Given the description of an element on the screen output the (x, y) to click on. 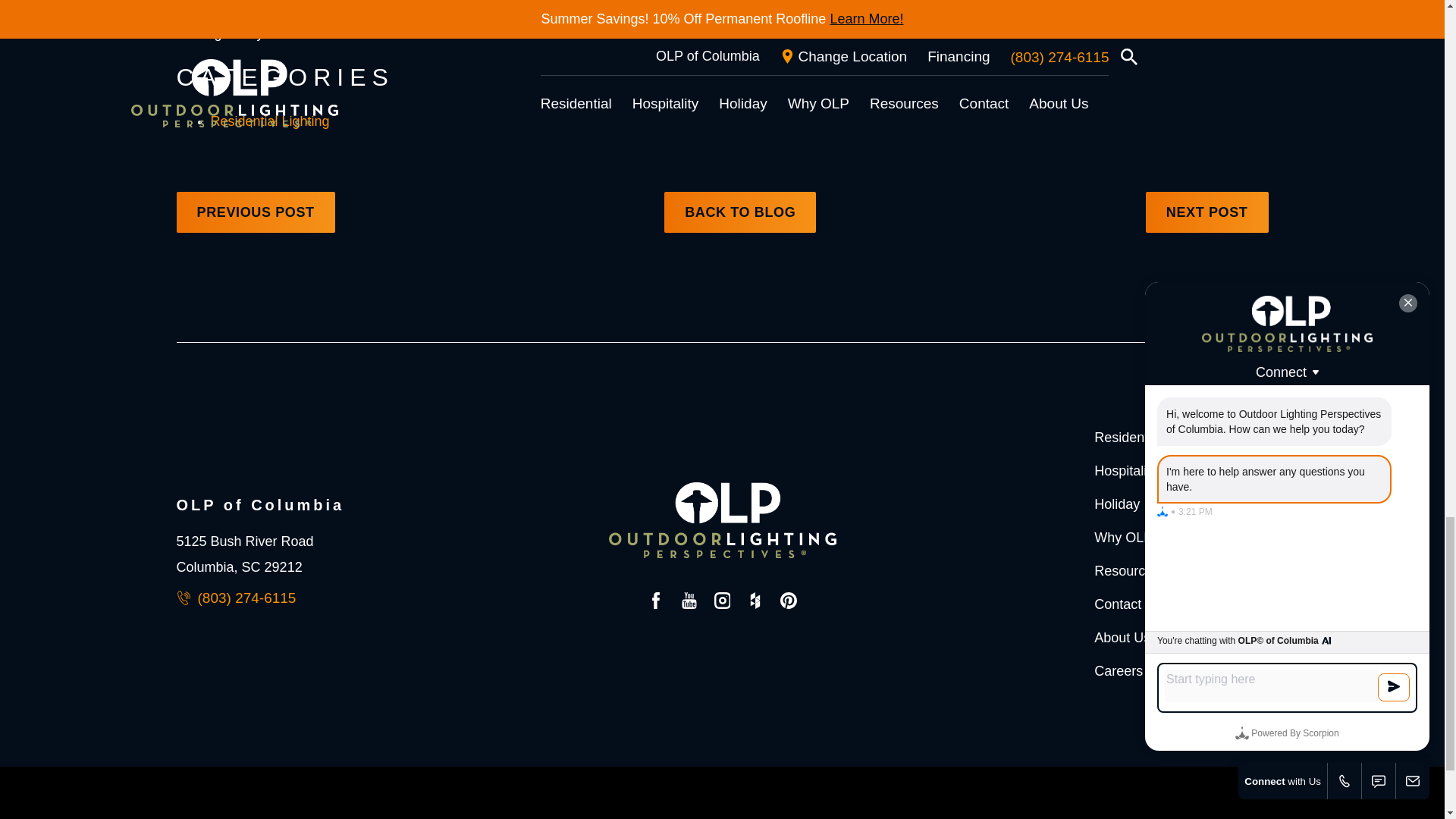
houzz (754, 603)
instagram (722, 603)
facebook (655, 603)
youtube (689, 603)
Outdoor Lighting Perspectives (721, 519)
pinterest (788, 603)
